Given the description of an element on the screen output the (x, y) to click on. 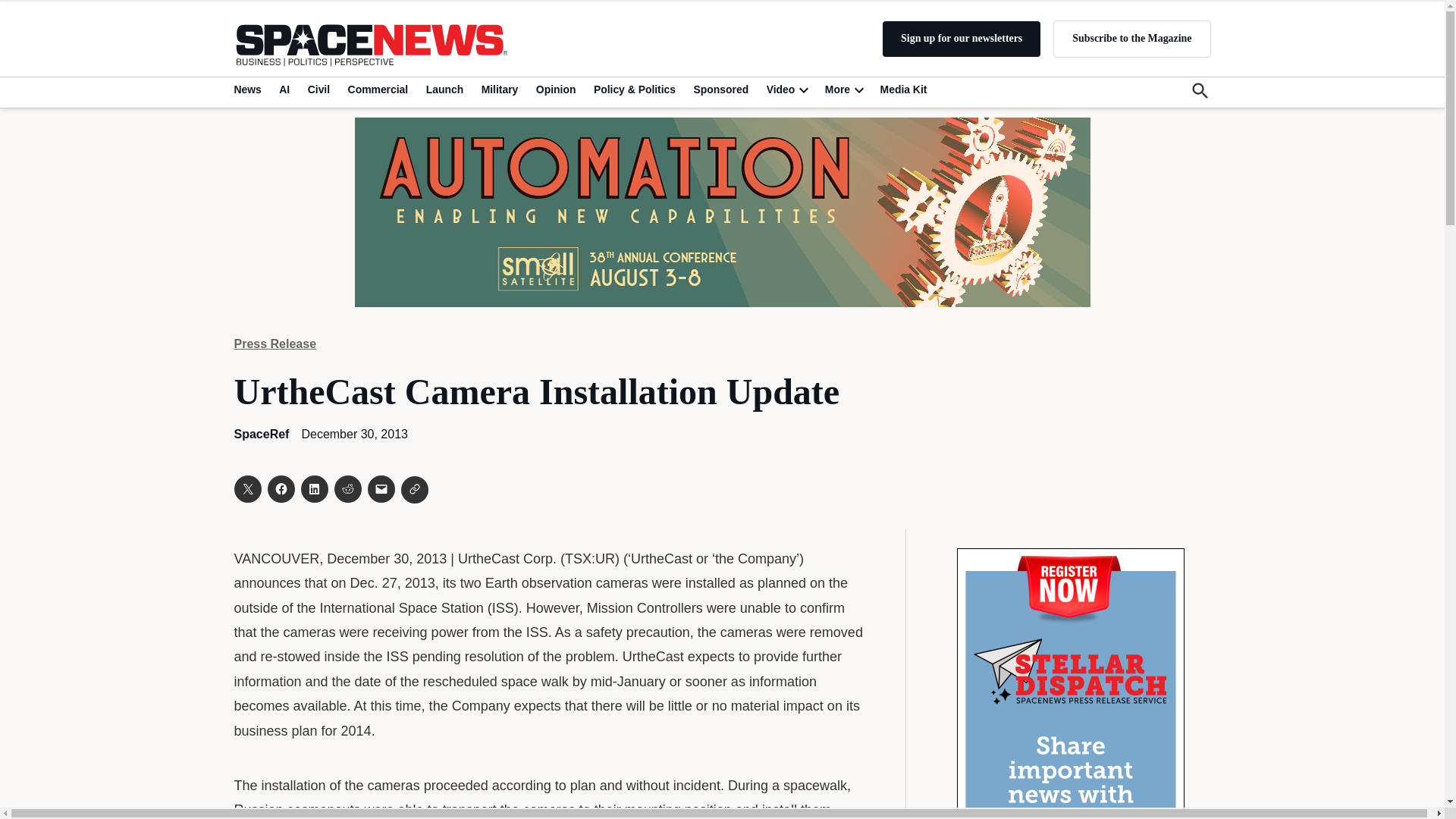
Click to share on X (246, 488)
Click to share on Clipboard (414, 489)
Sign up for our newsletters (961, 38)
Click to share on LinkedIn (313, 488)
Subscribe to the Magazine (1130, 38)
News (249, 89)
Click to email a link to a friend (380, 488)
Click to share on Facebook (280, 488)
Civil (318, 89)
Click to share on Reddit (347, 488)
AI (284, 89)
